Given the description of an element on the screen output the (x, y) to click on. 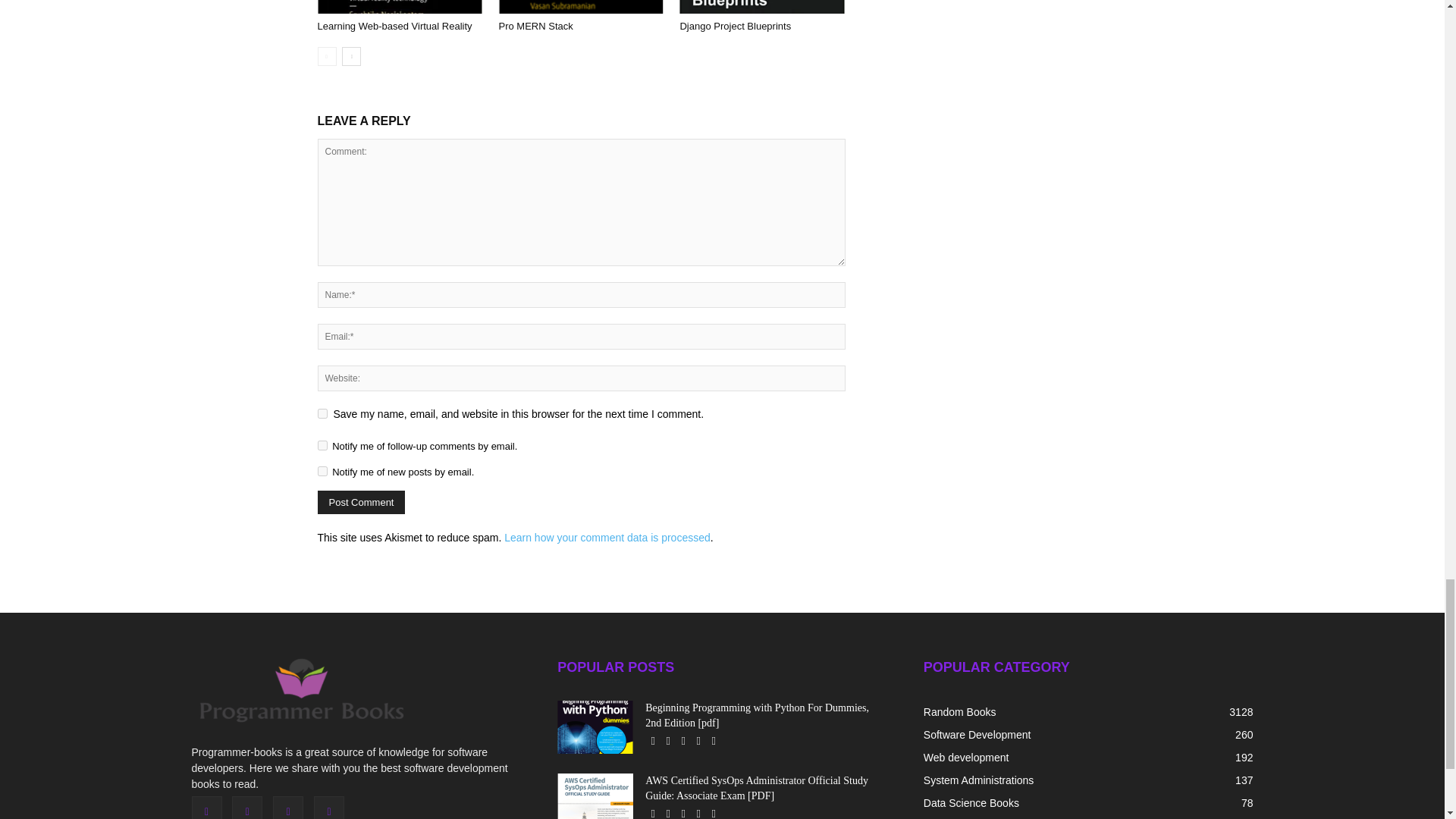
yes (321, 413)
subscribe (321, 470)
subscribe (321, 445)
Post Comment (360, 502)
